Given the description of an element on the screen output the (x, y) to click on. 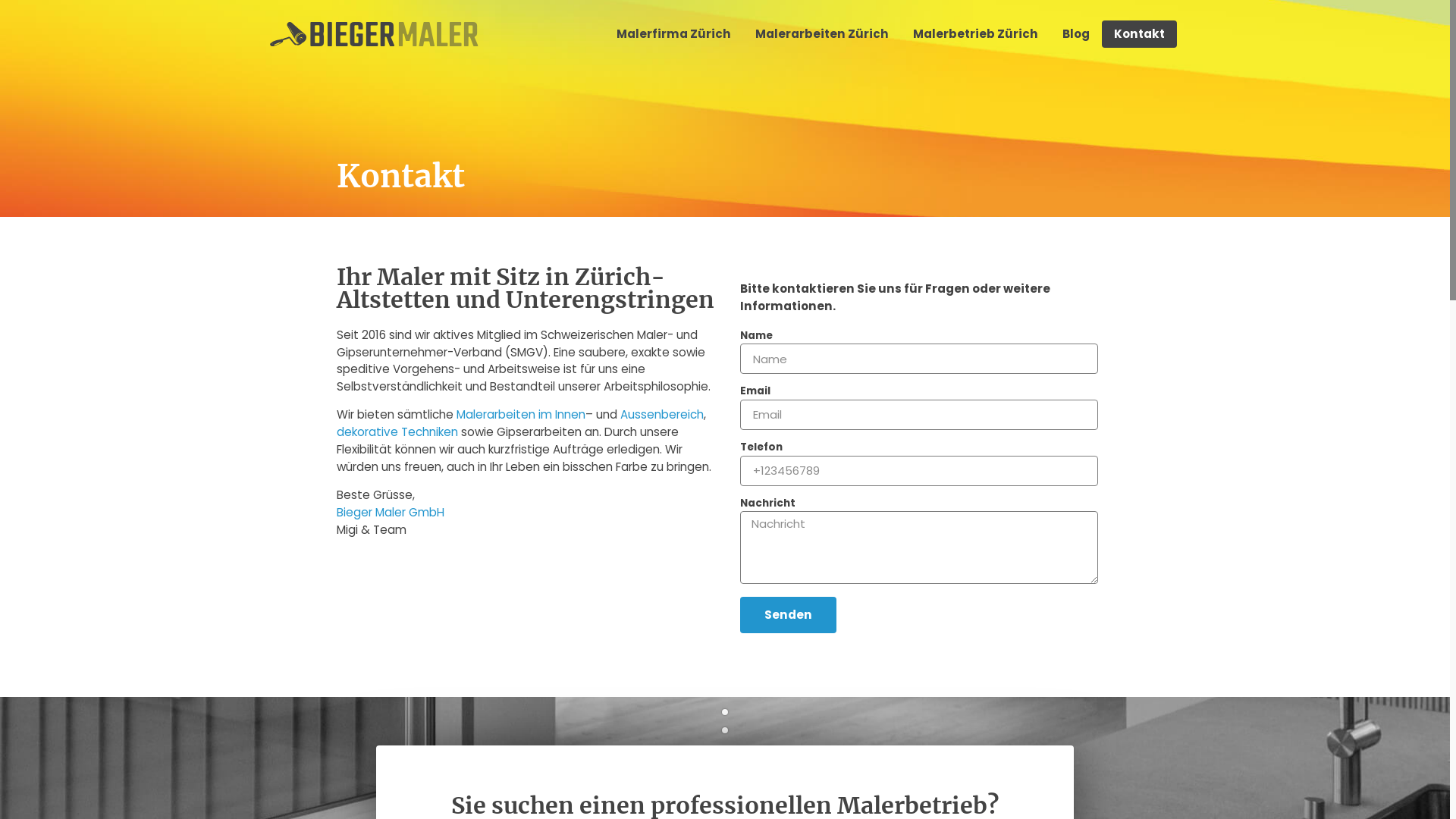
Blog Element type: text (1075, 33)
dekorative Techniken Element type: text (397, 431)
Kontakt Element type: text (1138, 33)
Bieger Maler GmbH Element type: text (390, 512)
Senden Element type: text (788, 614)
Aussenbereich Element type: text (661, 414)
Malerarbeiten im Innen Element type: text (520, 414)
